Given the description of an element on the screen output the (x, y) to click on. 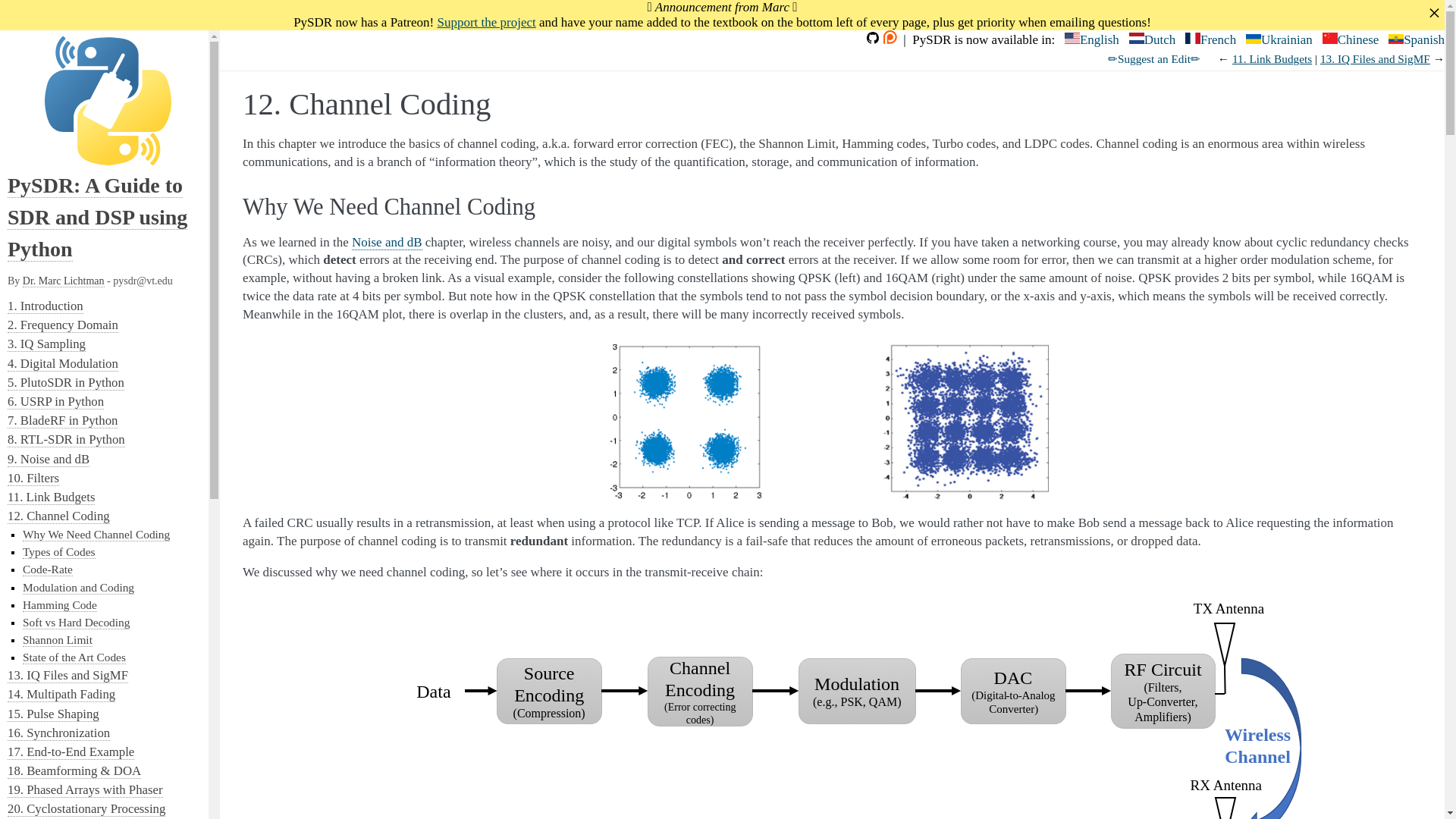
Modulation and Coding (78, 587)
Shannon Limit (58, 640)
State of the Art Codes (74, 657)
French (1210, 39)
9. Noise and dB (47, 459)
19. Phased Arrays with Phaser (85, 789)
1. Introduction (44, 305)
8. RTL-SDR in Python (66, 439)
Soft vs Hard Decoding (76, 622)
12. Channel Coding (58, 516)
Next document (1374, 58)
6. USRP in Python (55, 401)
4. Digital Modulation (62, 363)
5. PlutoSDR in Python (65, 382)
Dutch (1152, 39)
